Given the description of an element on the screen output the (x, y) to click on. 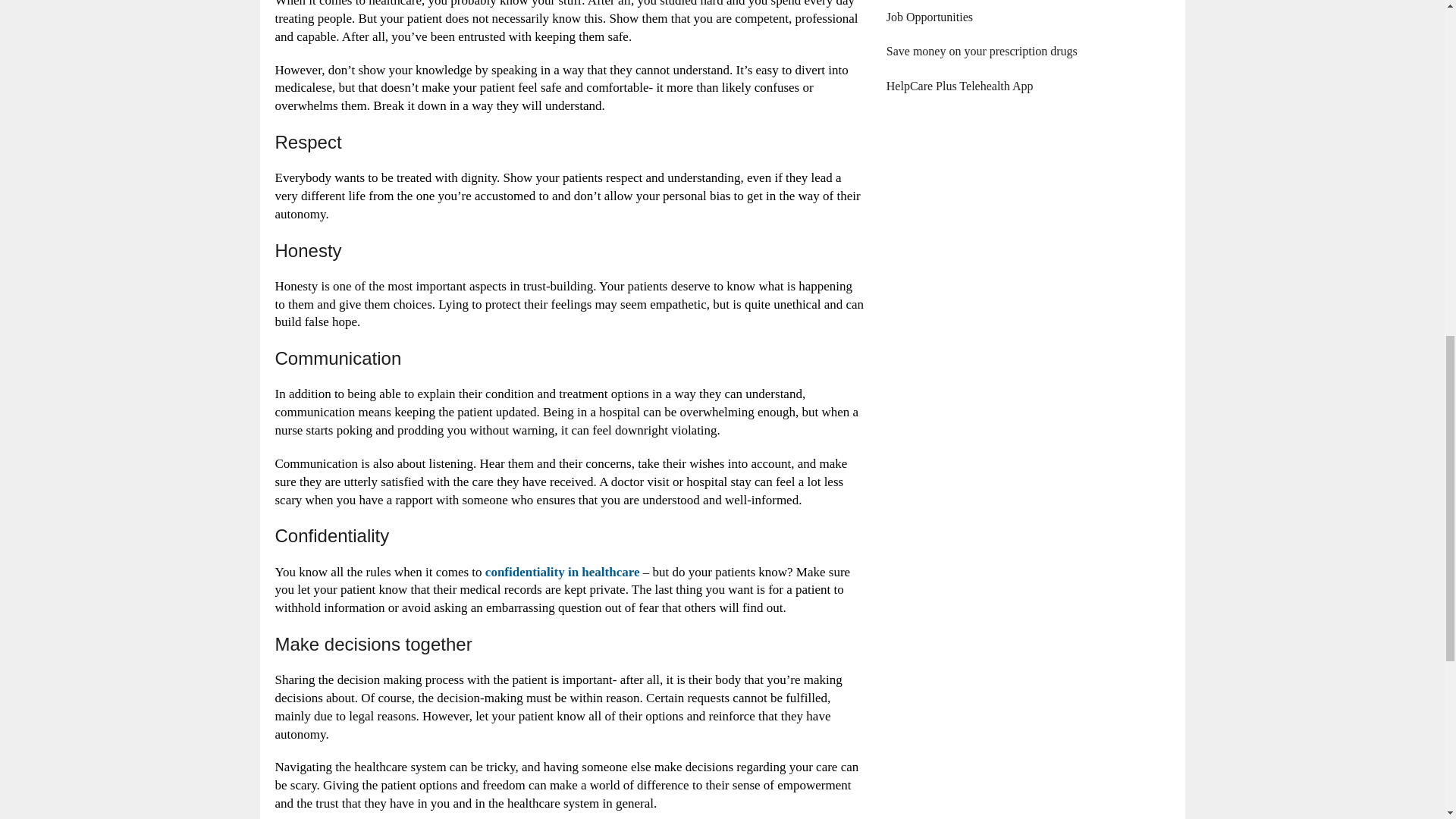
confidentiality in healthcare (562, 571)
